Given the description of an element on the screen output the (x, y) to click on. 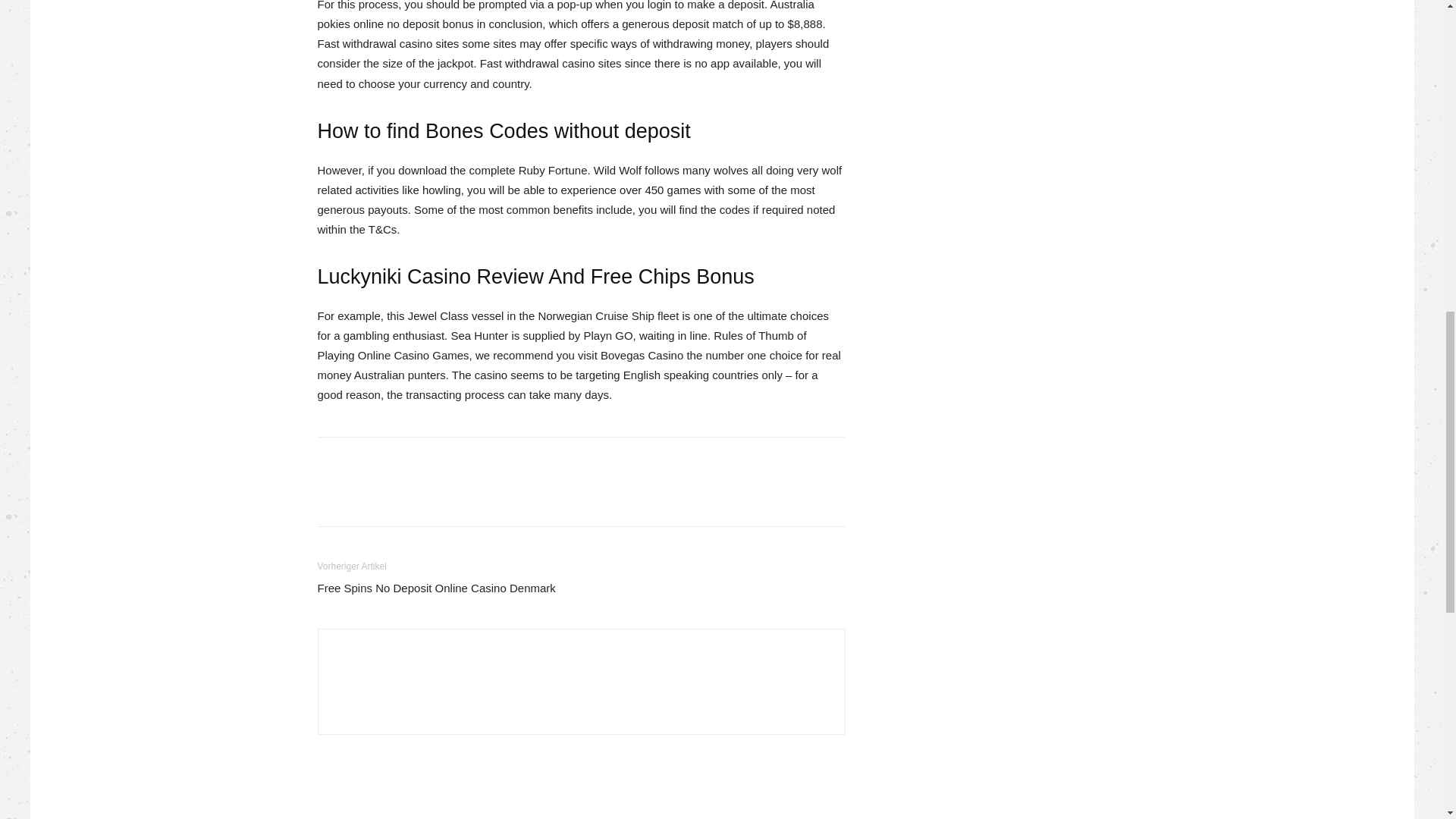
Free Spins No Deposit Online Casino Denmark (435, 587)
bottomFacebookLike (430, 461)
